Given the description of an element on the screen output the (x, y) to click on. 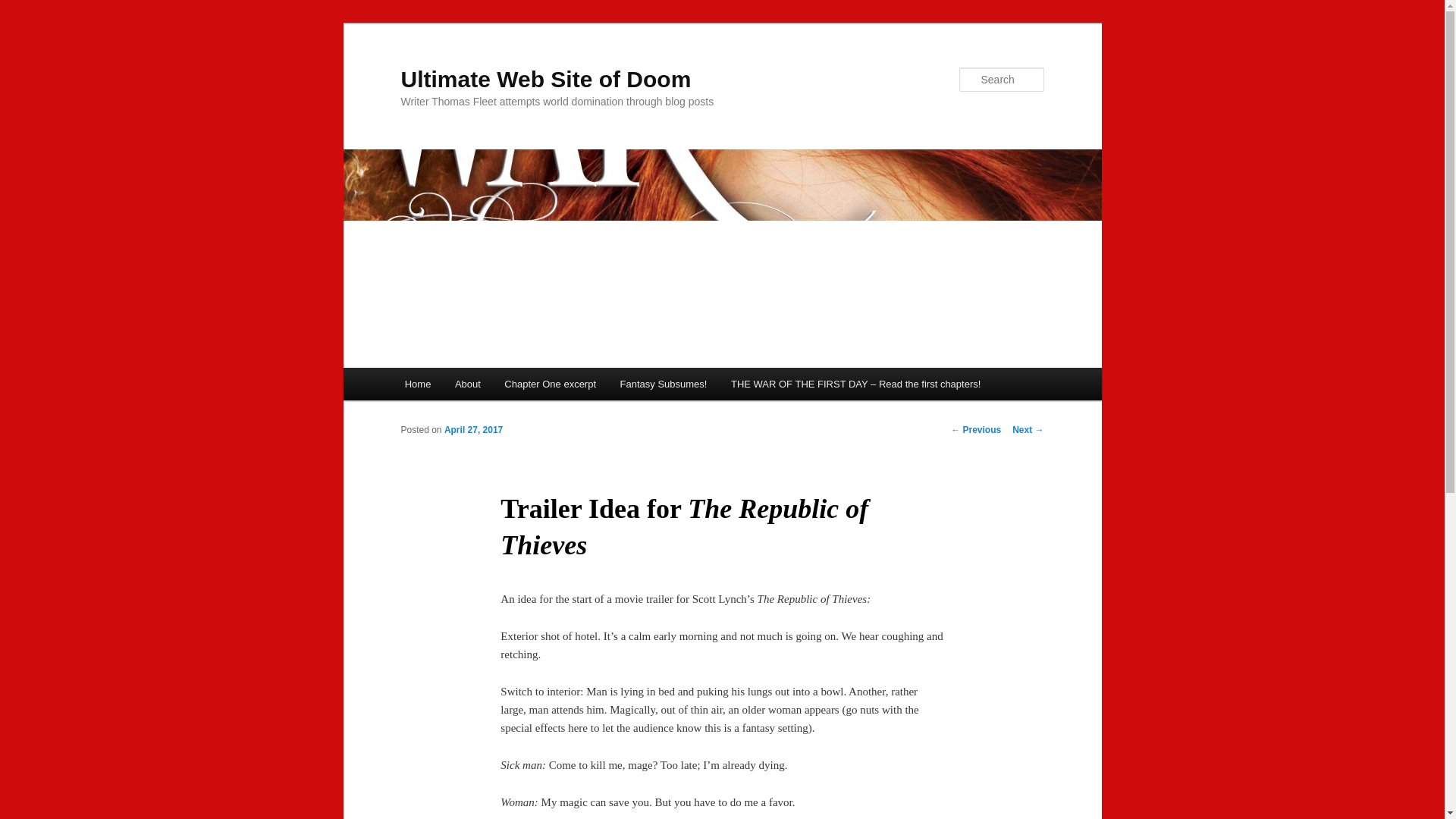
About (467, 383)
Ultimate Web Site of Doom (545, 78)
Chapter One excerpt (550, 383)
Fantasy Subsumes! (663, 383)
April 27, 2017 (473, 429)
1:42 pm (473, 429)
Home (417, 383)
Search (24, 8)
